Given the description of an element on the screen output the (x, y) to click on. 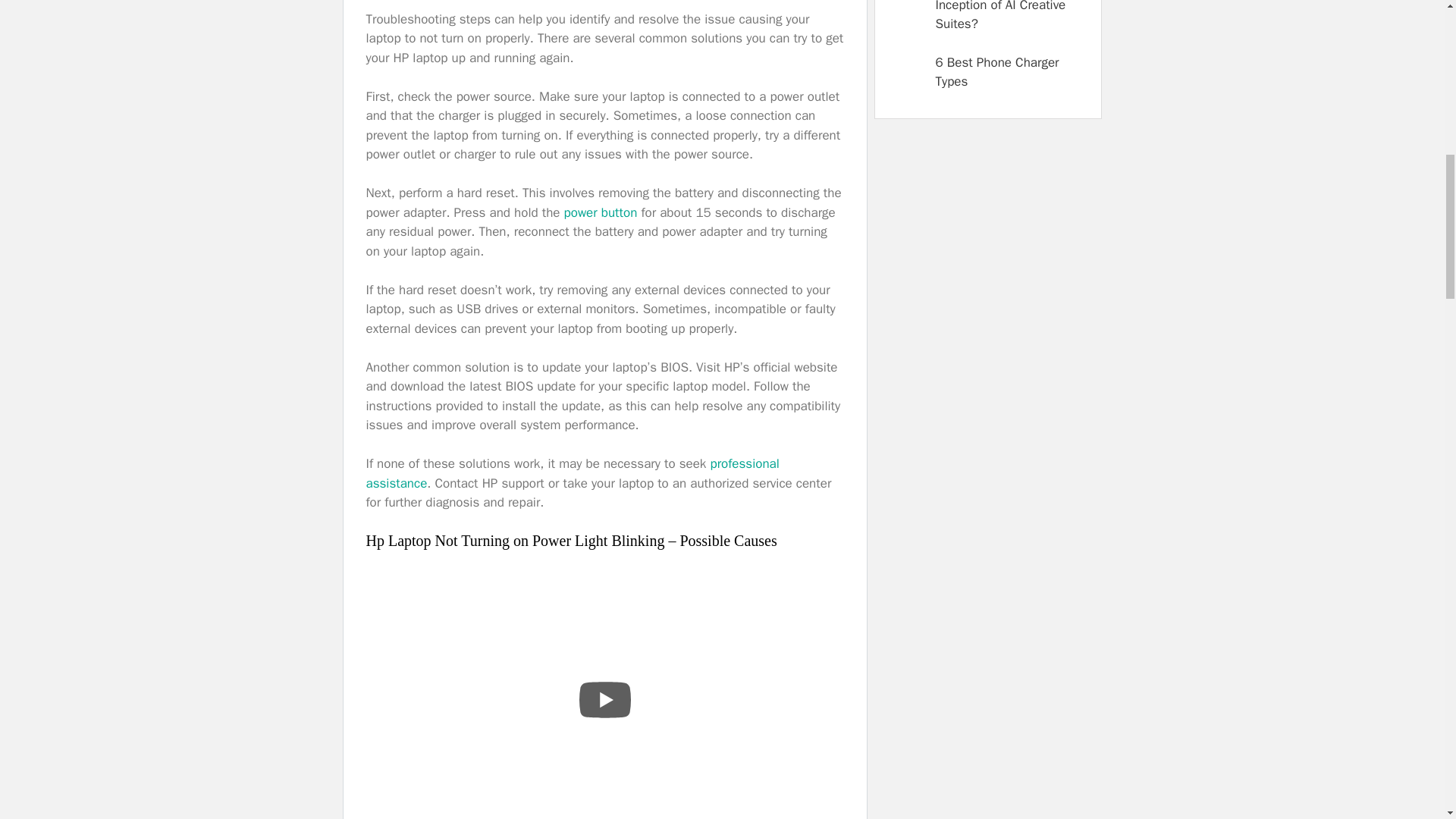
power button (600, 212)
professional assistance (571, 473)
